Given the description of an element on the screen output the (x, y) to click on. 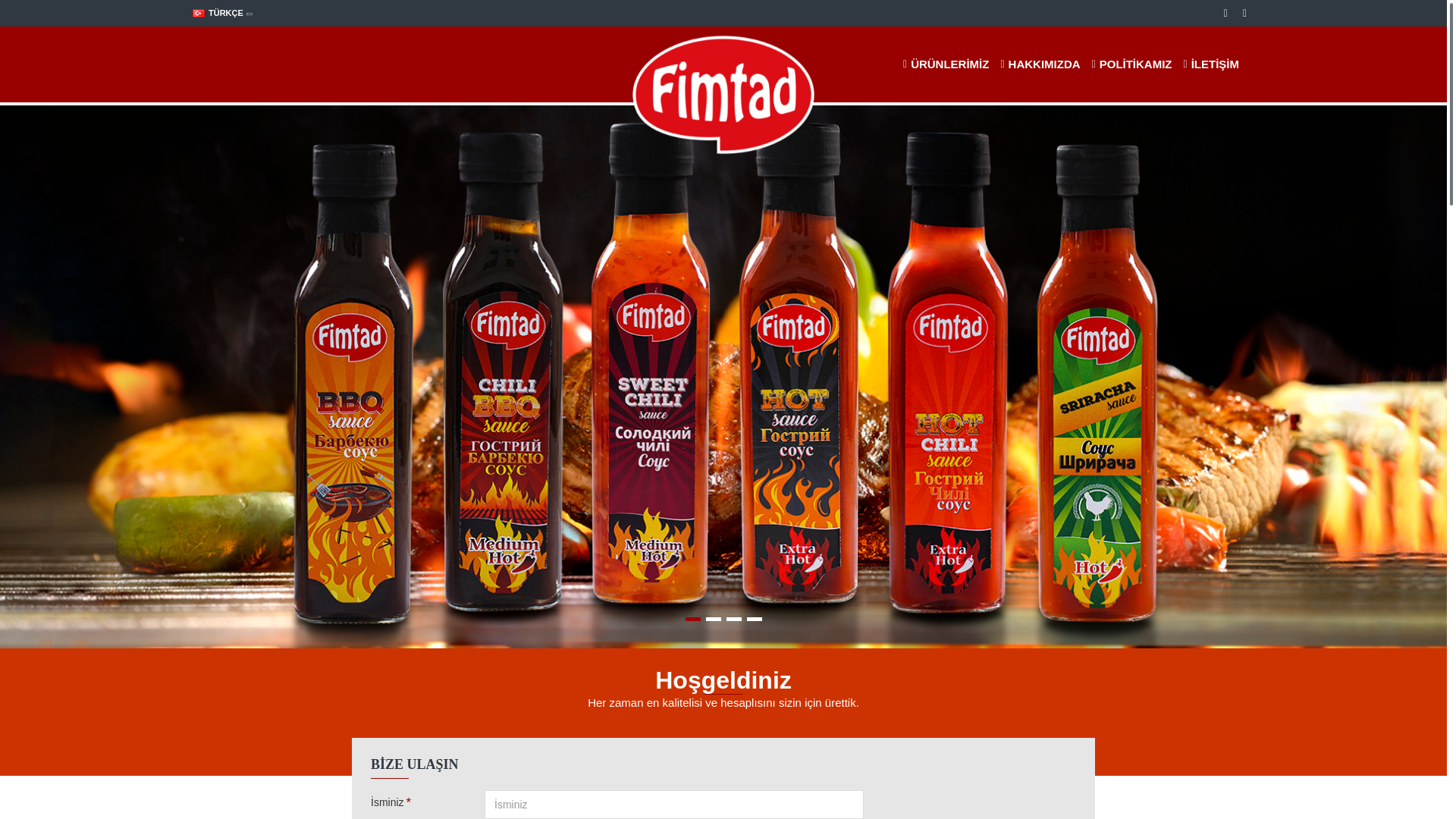
HAKKIMIZDA (1037, 63)
Fimtad.com (722, 95)
POLITIKAMIZ (1130, 63)
